Given the description of an element on the screen output the (x, y) to click on. 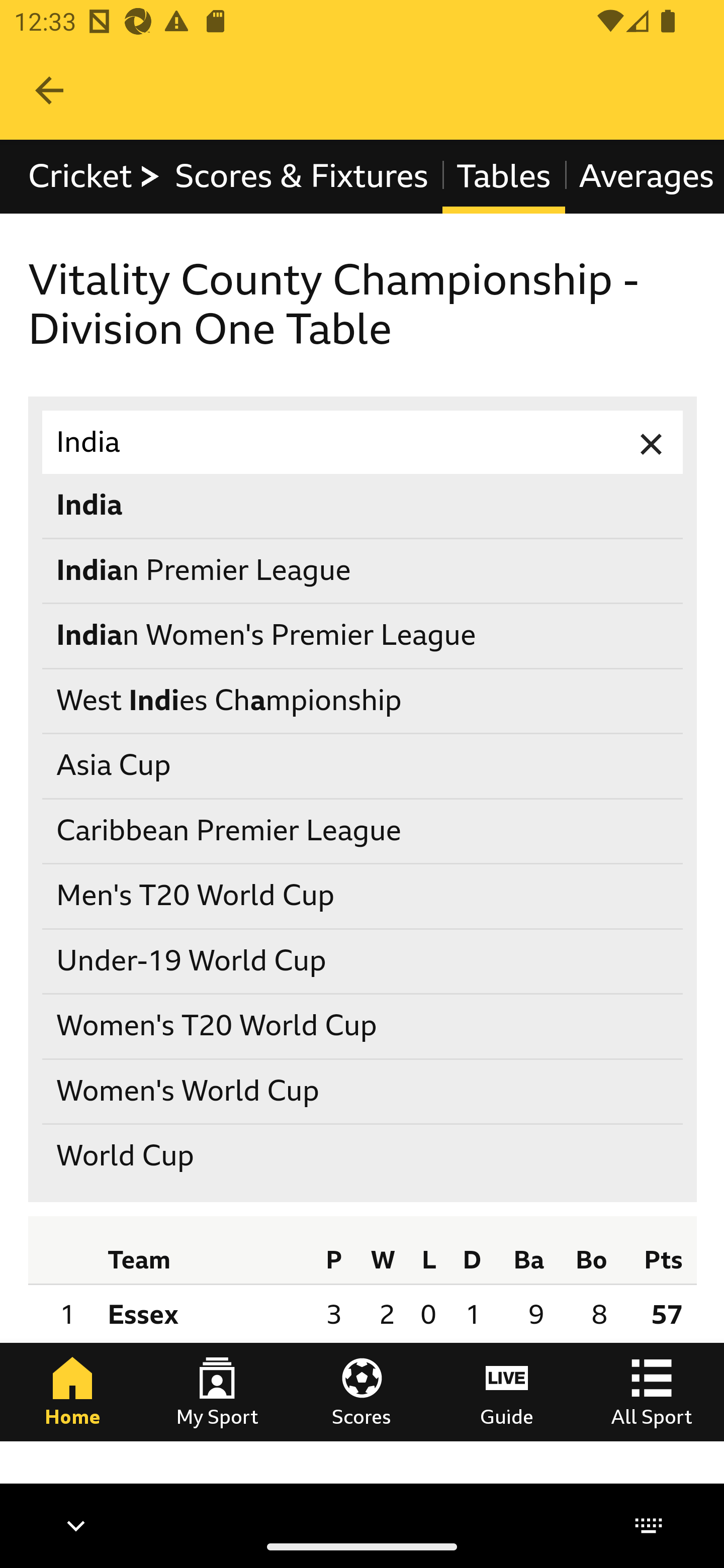
Navigate up (49, 90)
Cricket  (95, 176)
Scores & Fixtures (301, 176)
Tables (503, 176)
Averages (643, 176)
India (362, 442)
Clear input (651, 442)
India (362, 506)
Indian Premier League India n Premier League (362, 570)
Asia Cup (362, 766)
Caribbean Premier League (362, 830)
Men's T20 World Cup (362, 896)
Under-19 World Cup (362, 961)
Women's T20 World Cup (362, 1026)
Women's World Cup (362, 1091)
World Cup (362, 1156)
Essex (203, 1314)
My Sport (216, 1391)
Scores (361, 1391)
Guide (506, 1391)
All Sport (651, 1391)
